Given the description of an element on the screen output the (x, y) to click on. 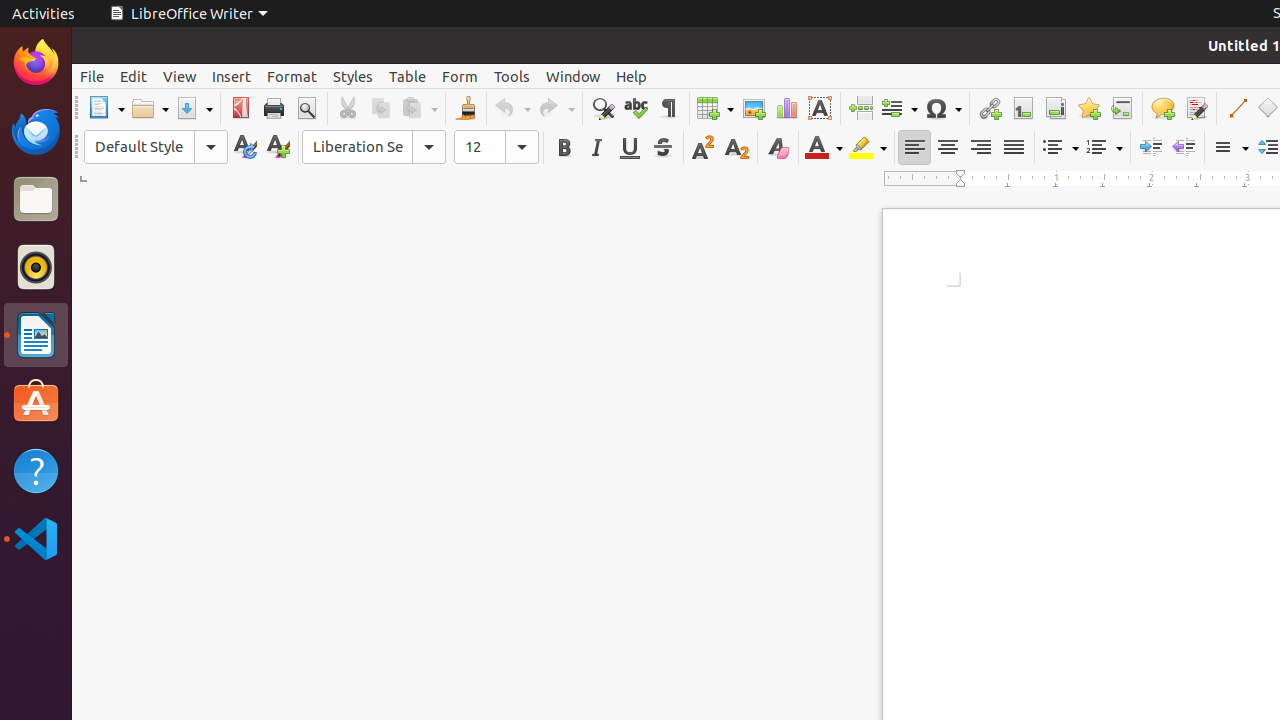
Page Break Element type: push-button (860, 108)
Save Element type: push-button (194, 108)
Undo Element type: push-button (512, 108)
Track Changes Functions Element type: toggle-button (1195, 108)
Font Color Element type: push-button (824, 147)
